Given the description of an element on the screen output the (x, y) to click on. 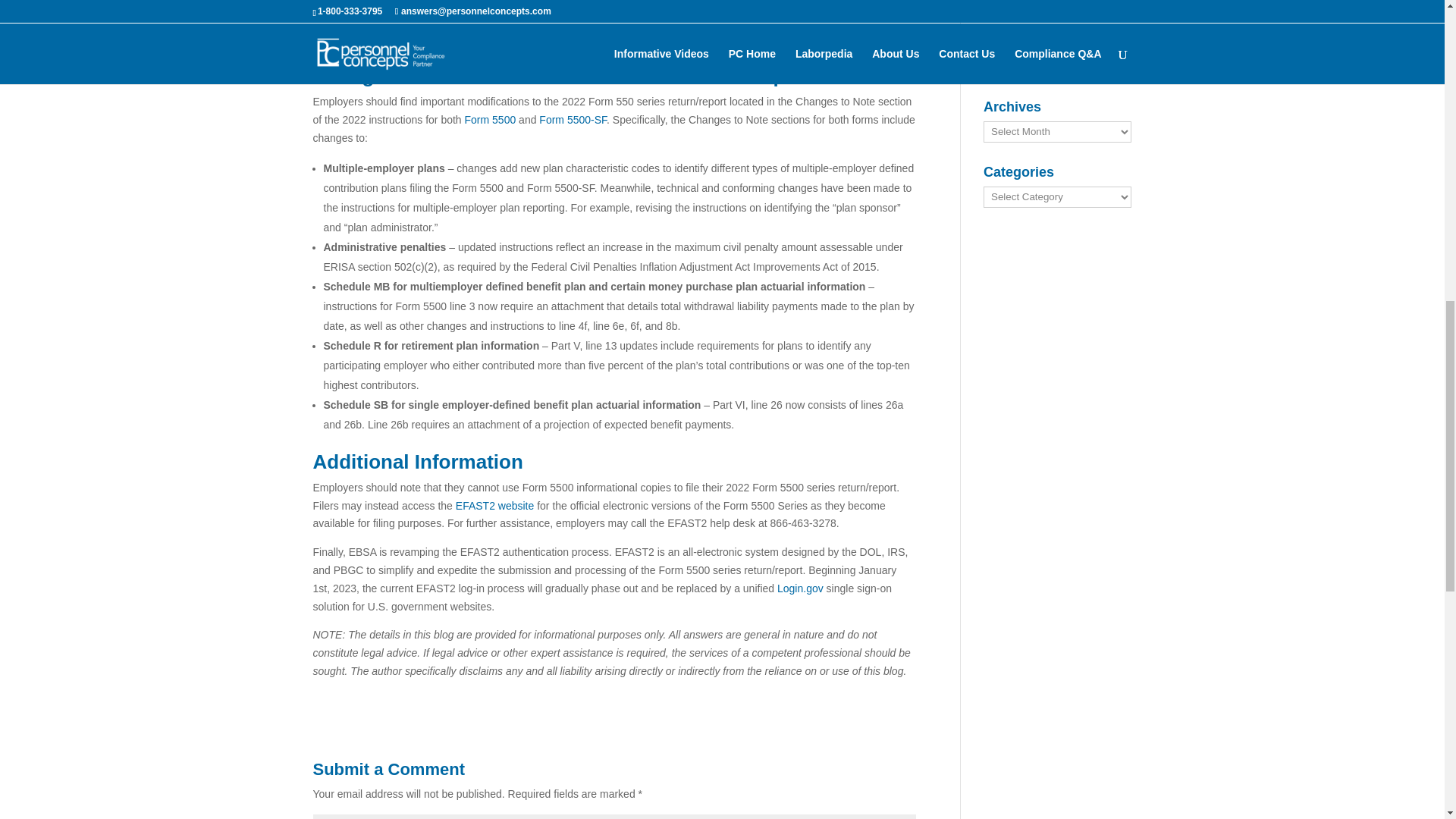
Form 5500-SF (572, 119)
Login.gov (800, 588)
Form 5500 (490, 119)
EFAST2 website (494, 505)
the five types of employee records all employers must keep (598, 37)
